Given the description of an element on the screen output the (x, y) to click on. 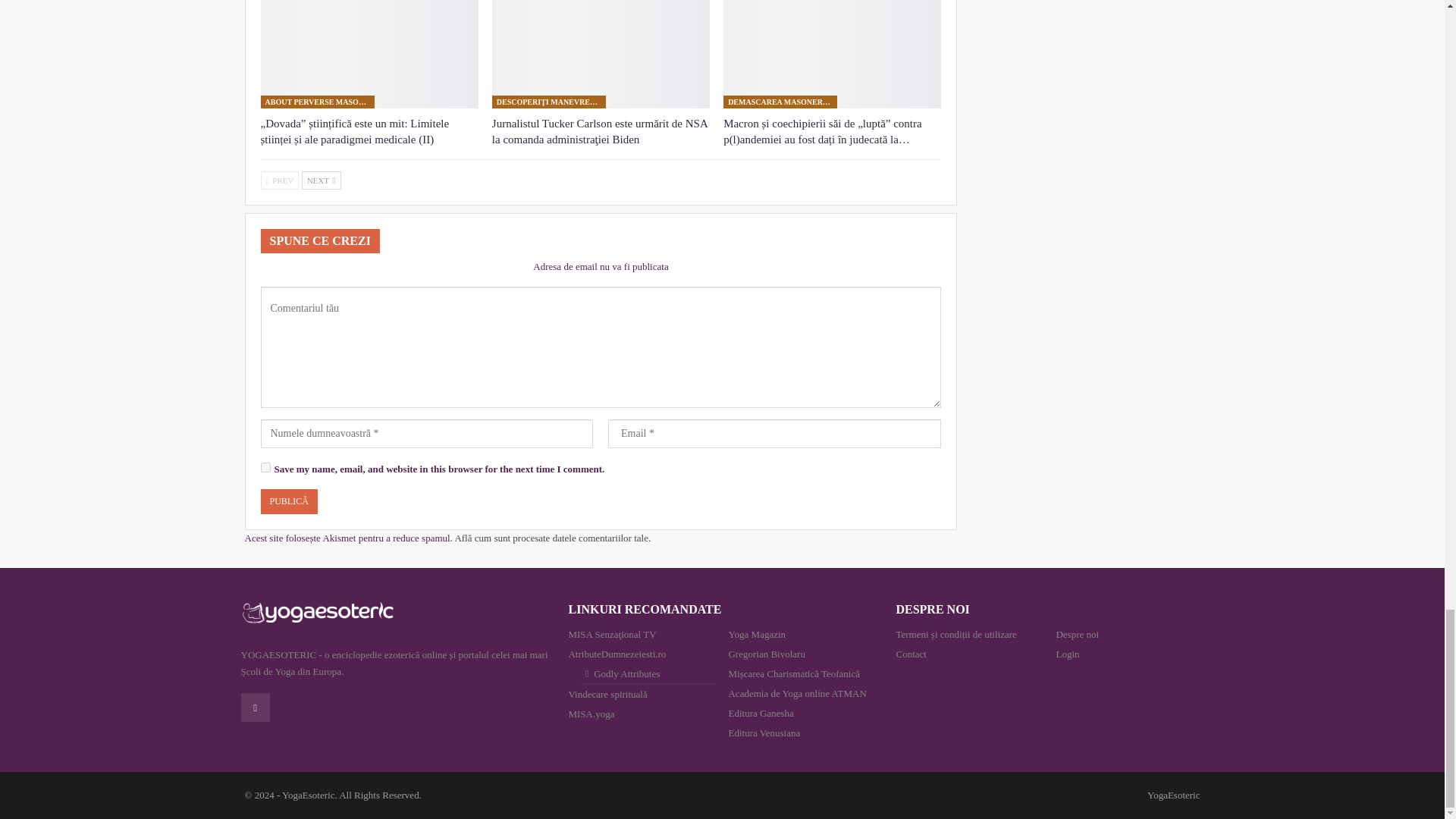
yes (265, 467)
